Given the description of an element on the screen output the (x, y) to click on. 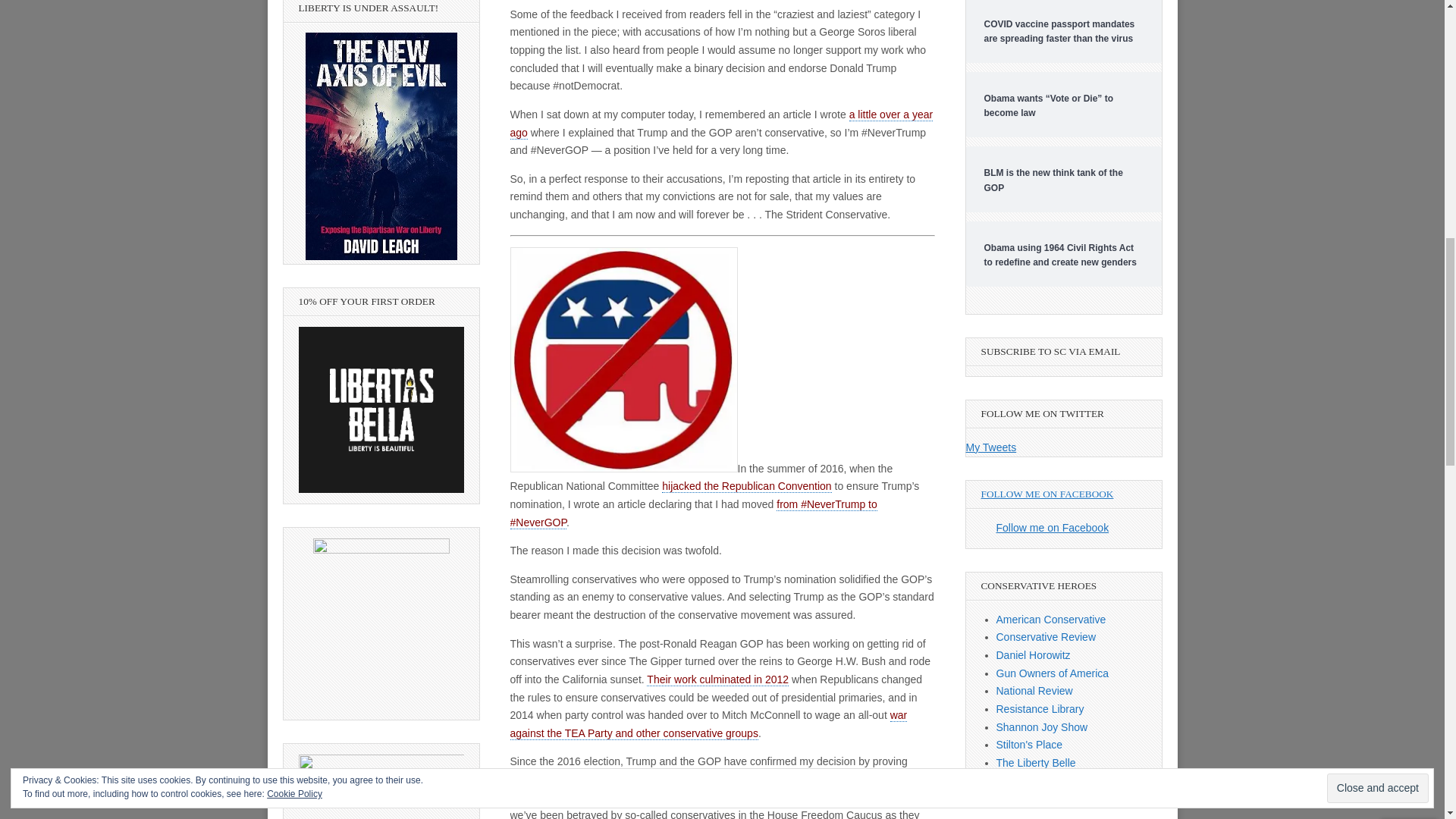
Sign me up! (1343, 195)
Email Address (1358, 167)
